Given the description of an element on the screen output the (x, y) to click on. 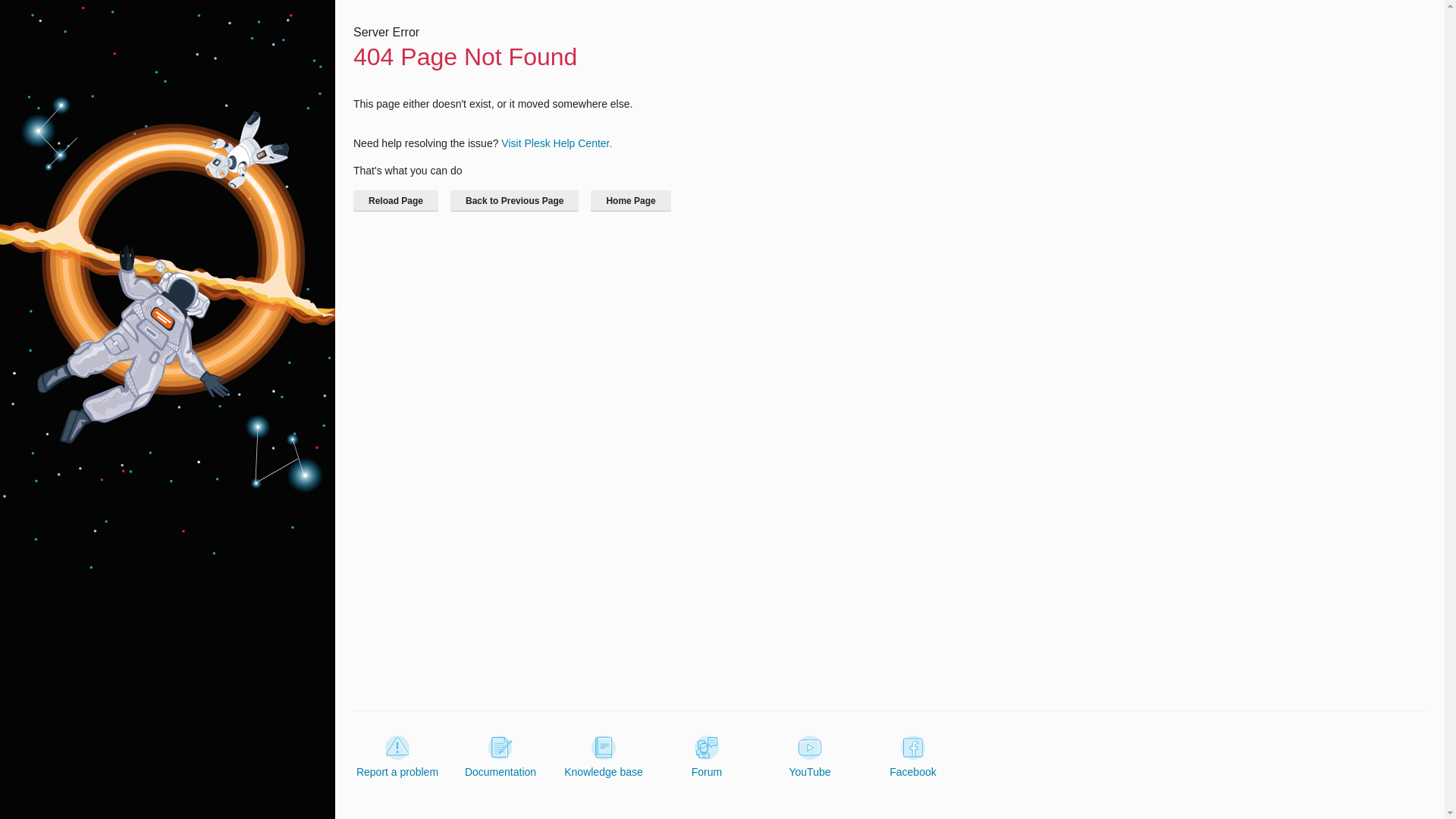
Visit Plesk Help Center. (555, 143)
Report a problem (397, 757)
Documentation (500, 757)
Facebook (912, 757)
YouTube (809, 757)
Home Page (630, 200)
Knowledge base (603, 757)
Back to Previous Page (513, 200)
Forum (706, 757)
Reload Page (395, 200)
